Given the description of an element on the screen output the (x, y) to click on. 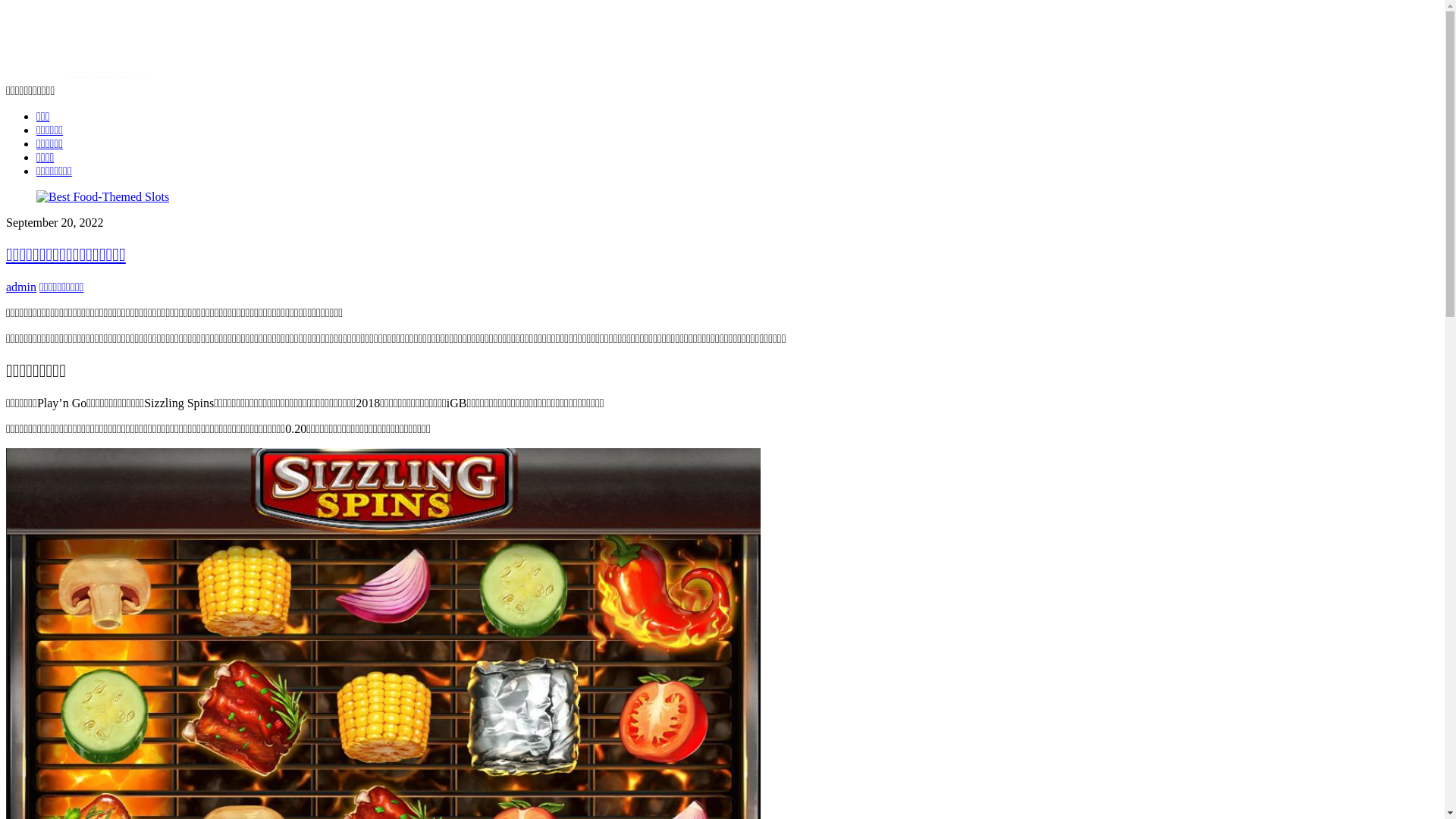
1958 Restaurant Element type: hover (81, 76)
Best Food-Themed Slots Element type: hover (102, 196)
admin Element type: text (21, 286)
1958 Restaurant Element type: hover (81, 43)
